Given the description of an element on the screen output the (x, y) to click on. 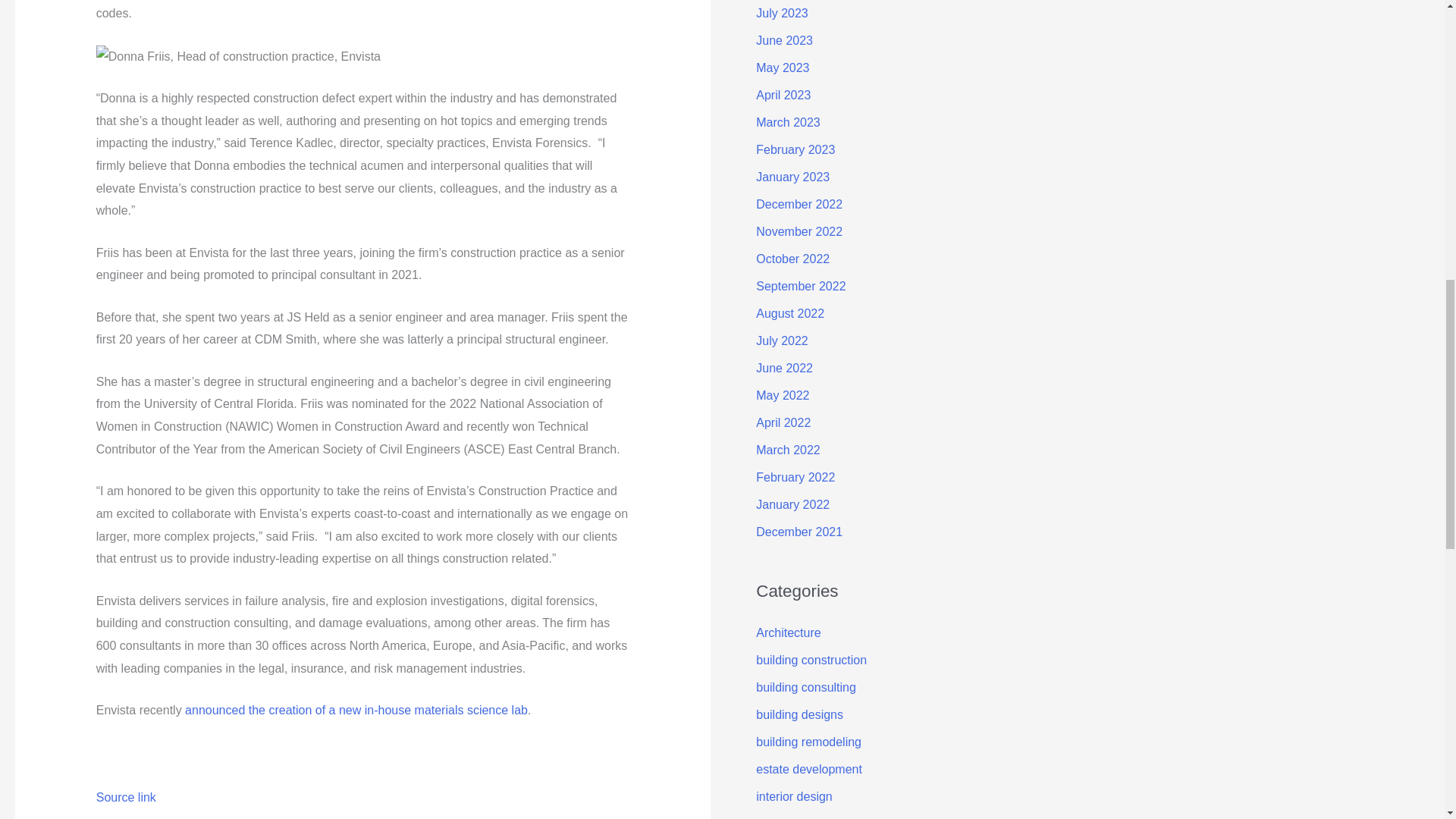
Donna Friis, Head of construction practice, Envista (238, 56)
